Given the description of an element on the screen output the (x, y) to click on. 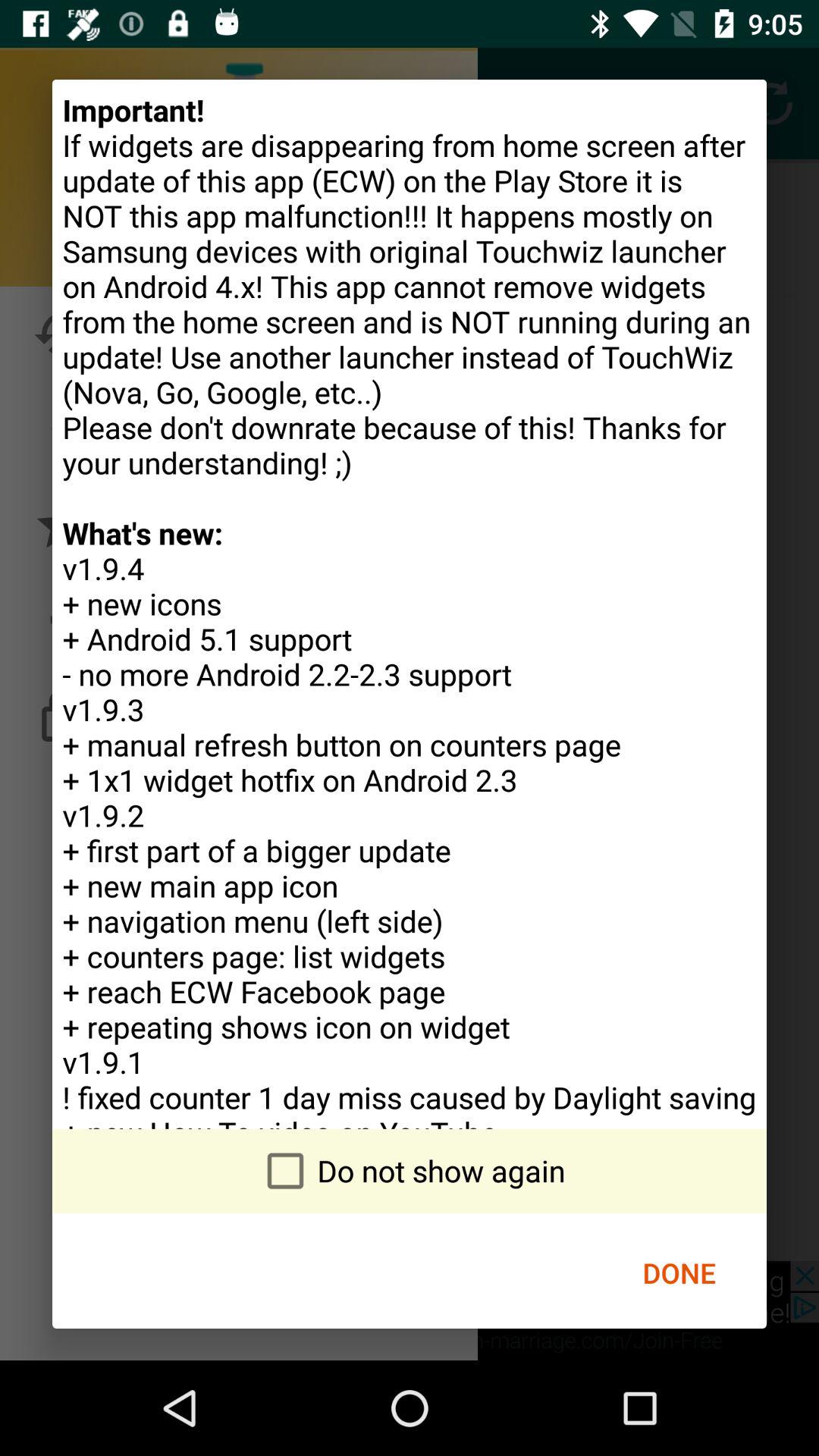
scroll until the done icon (678, 1272)
